Given the description of an element on the screen output the (x, y) to click on. 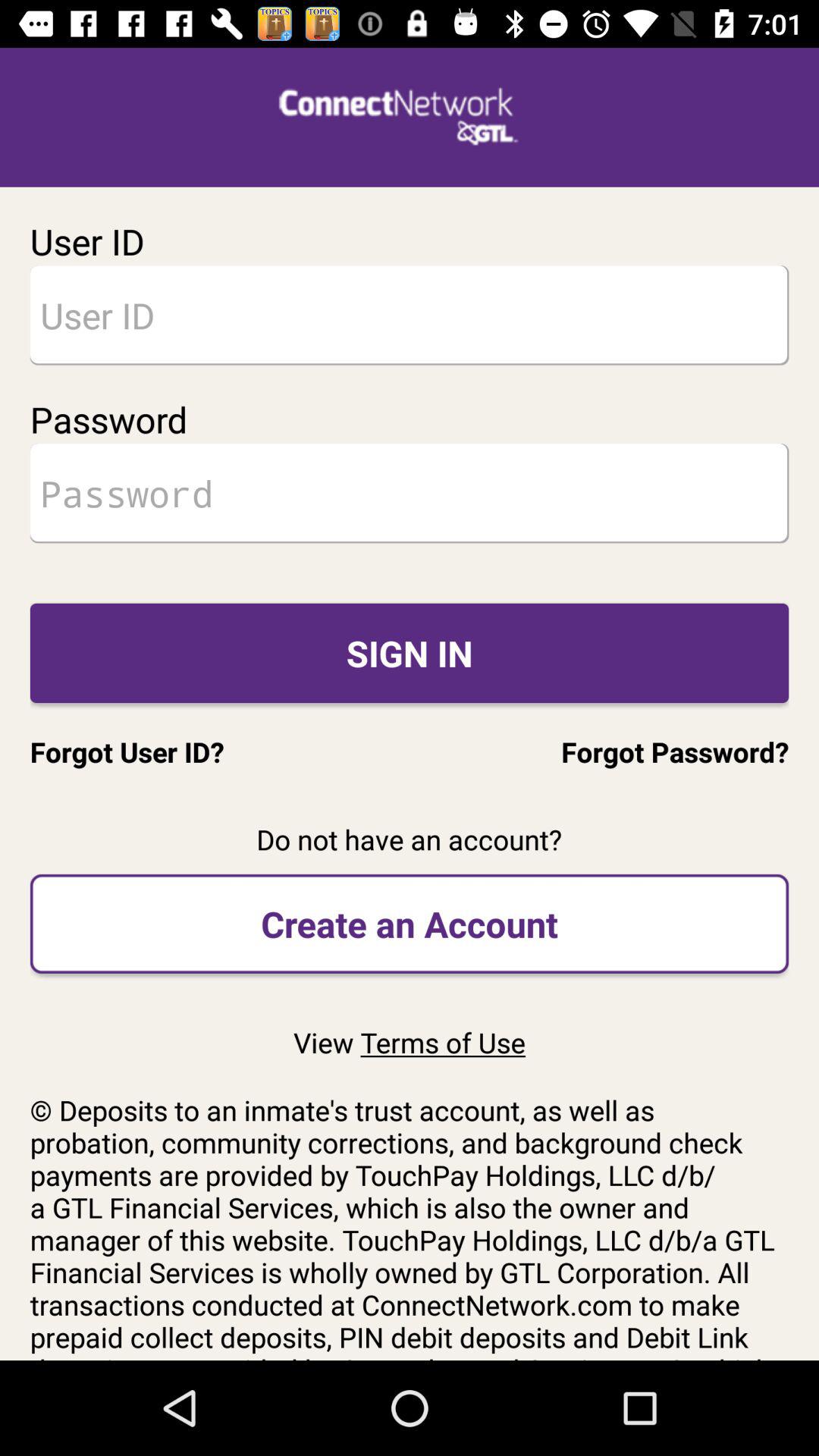
click the item above deposits to an icon (409, 1042)
